Given the description of an element on the screen output the (x, y) to click on. 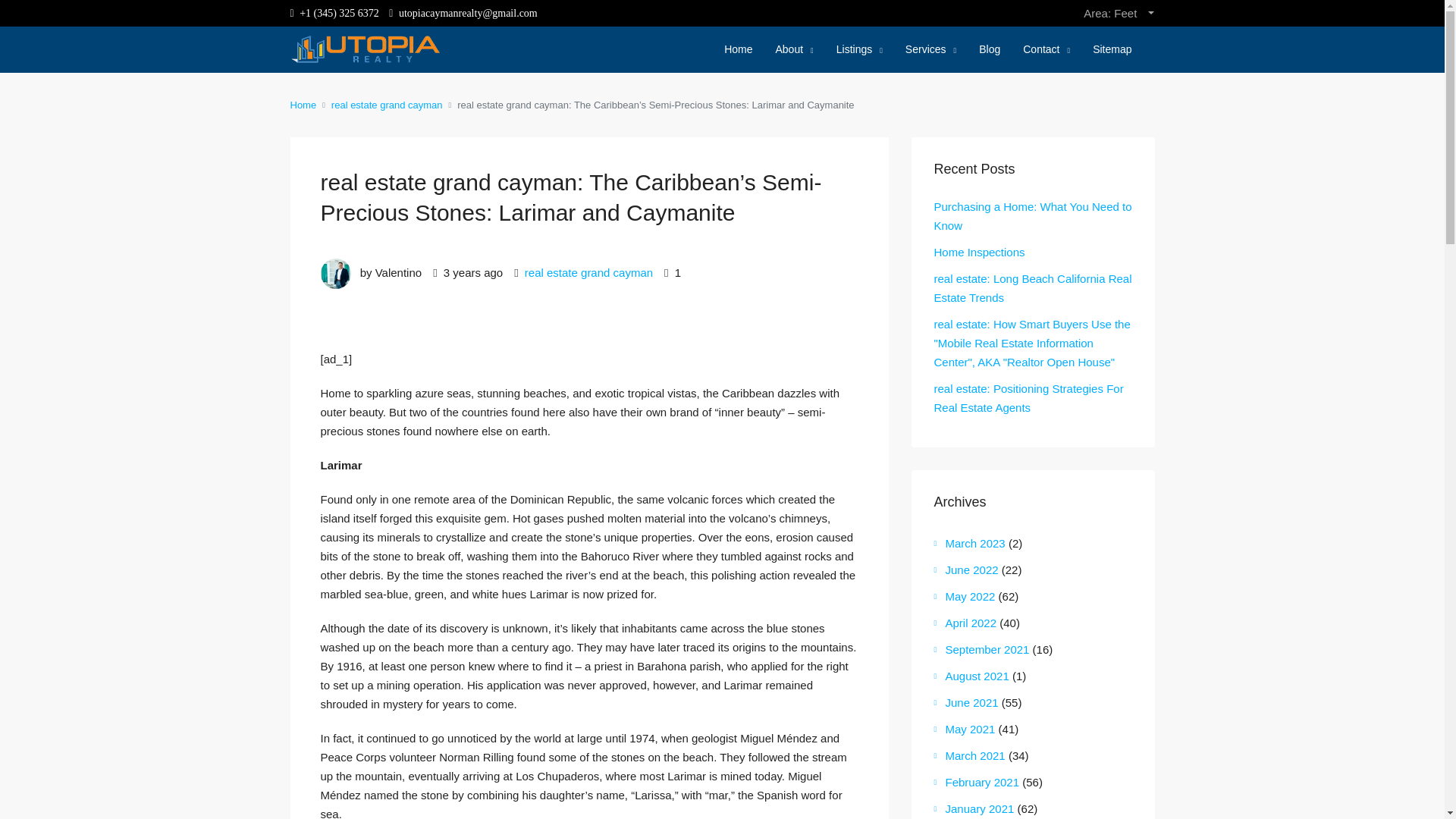
Area: Feet (1118, 13)
About (793, 49)
Listings (859, 49)
Services (930, 49)
Home (737, 49)
